Given the description of an element on the screen output the (x, y) to click on. 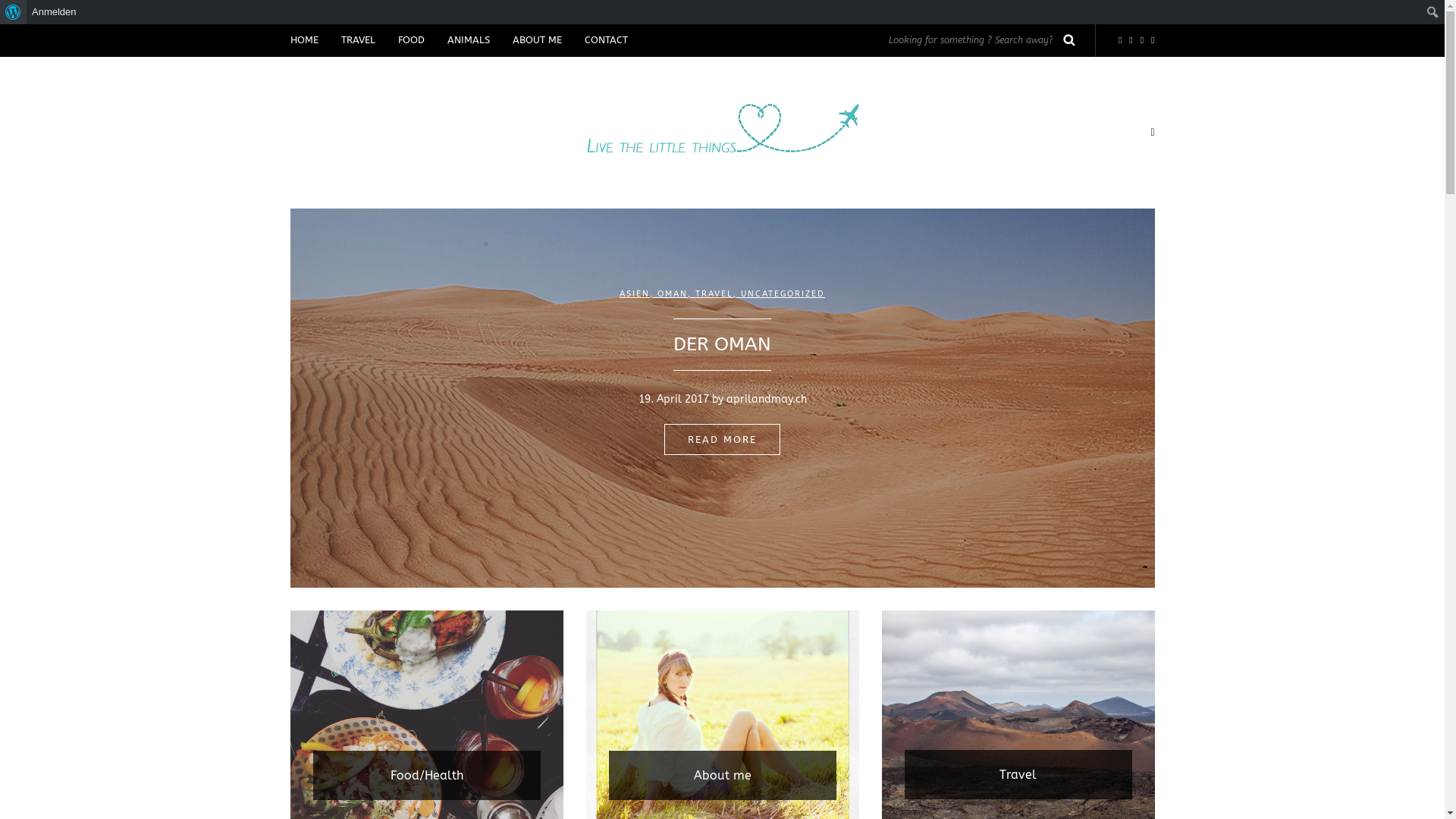
GREIFVOGELSTATION BERG AM IRCHEL Element type: text (721, 344)
Search Element type: text (1068, 39)
FOOD Element type: text (411, 40)
READ MORE Element type: text (722, 439)
CONTACT Element type: text (606, 40)
ABOUT ME Element type: text (536, 40)
HOME Element type: text (309, 40)
TRAVEL Element type: text (357, 40)
Anmelden Element type: text (54, 12)
ANIMALS Element type: text (721, 293)
Suchen Element type: text (17, 12)
ANIMALS Element type: text (467, 40)
